Given the description of an element on the screen output the (x, y) to click on. 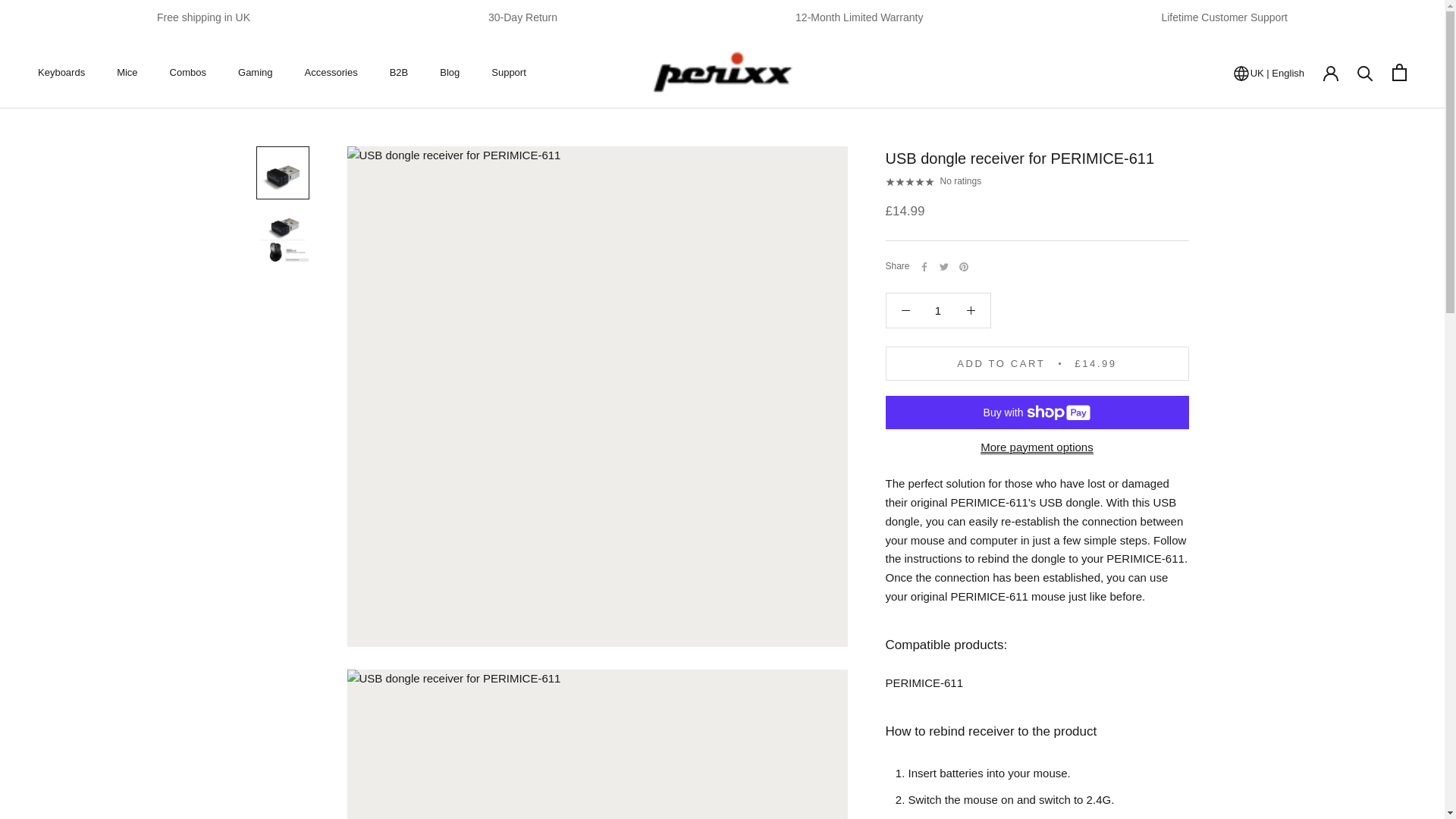
30-Day Return (522, 17)
Free shipping in UK (203, 17)
Lifetime Customer Support (1223, 17)
12-Month Limited Warranty (126, 71)
1 (449, 71)
